Given the description of an element on the screen output the (x, y) to click on. 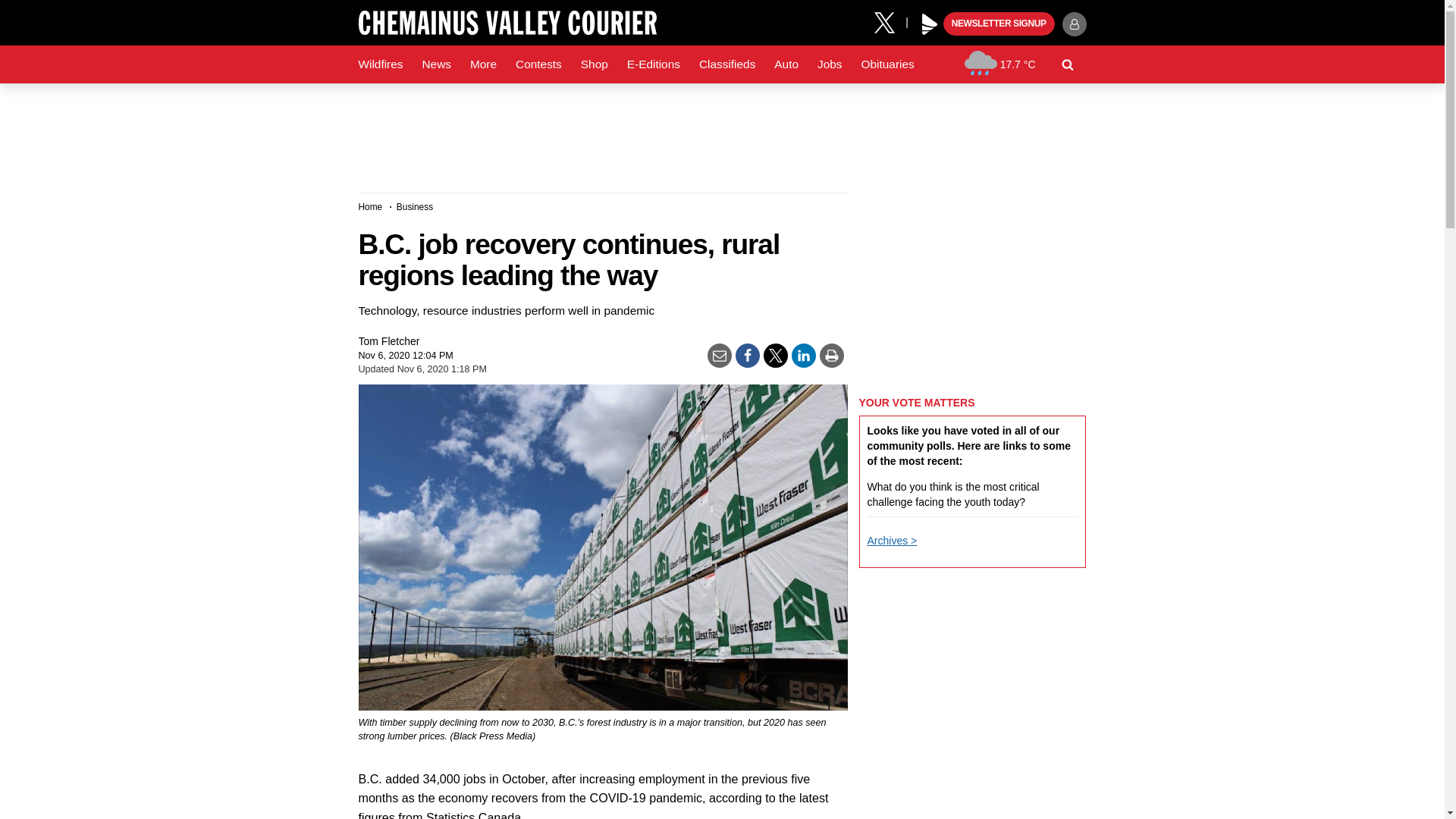
Play (929, 24)
Wildfires (380, 64)
News (435, 64)
Black Press Media (929, 24)
X (889, 21)
NEWSLETTER SIGNUP (998, 24)
